Given the description of an element on the screen output the (x, y) to click on. 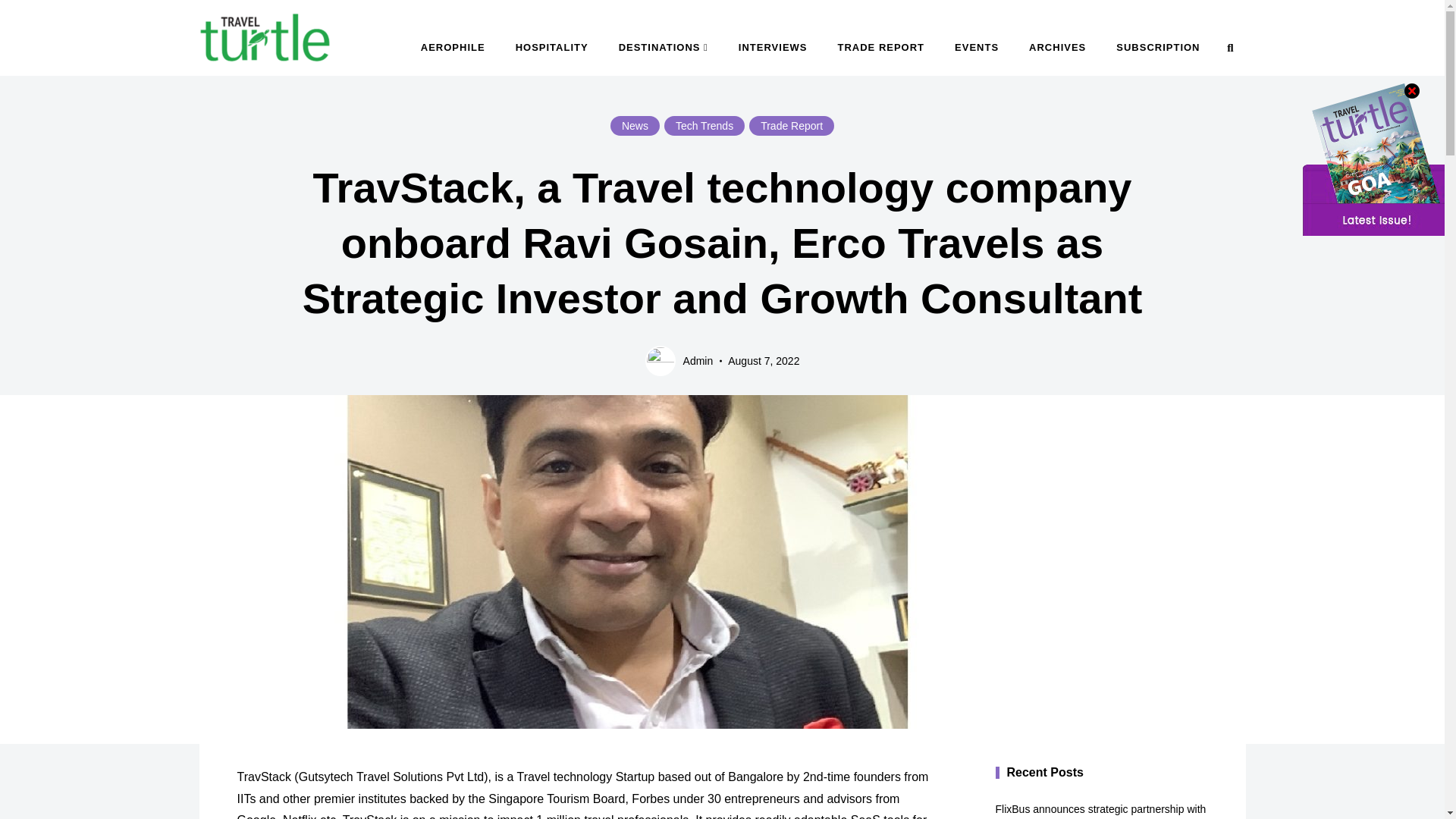
August 7, 2022 (763, 360)
AEROPHILE (453, 47)
HOSPITALITY (552, 47)
SUBSCRIPTION (1157, 47)
Trade Report (791, 125)
Tech Trends (703, 125)
News (634, 125)
INTERVIEWS (772, 47)
TRAVEL TURTLE (298, 77)
EVENTS (976, 47)
ARCHIVES (1056, 47)
Admin (679, 360)
DESTINATIONS (663, 47)
TRADE REPORT (880, 47)
